Given the description of an element on the screen output the (x, y) to click on. 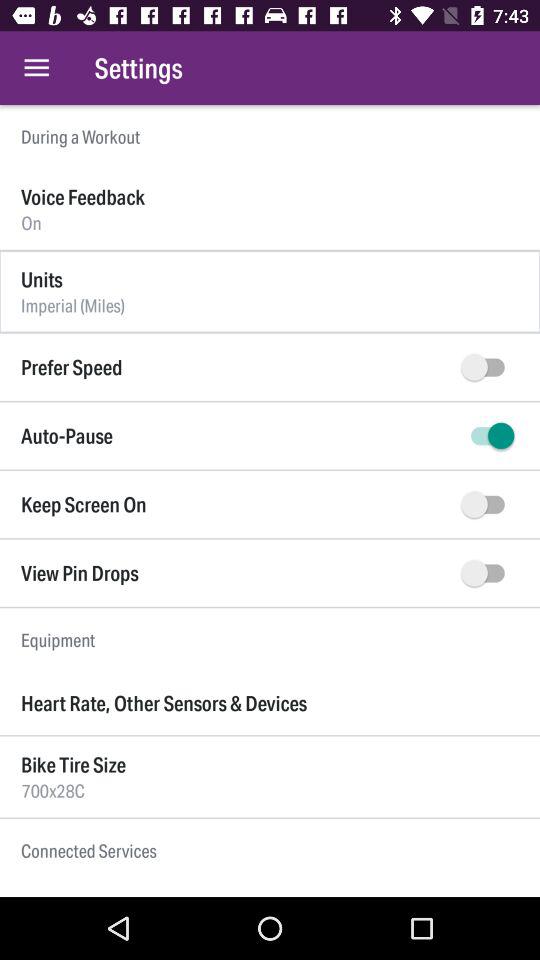
toggle speed button (487, 367)
